Given the description of an element on the screen output the (x, y) to click on. 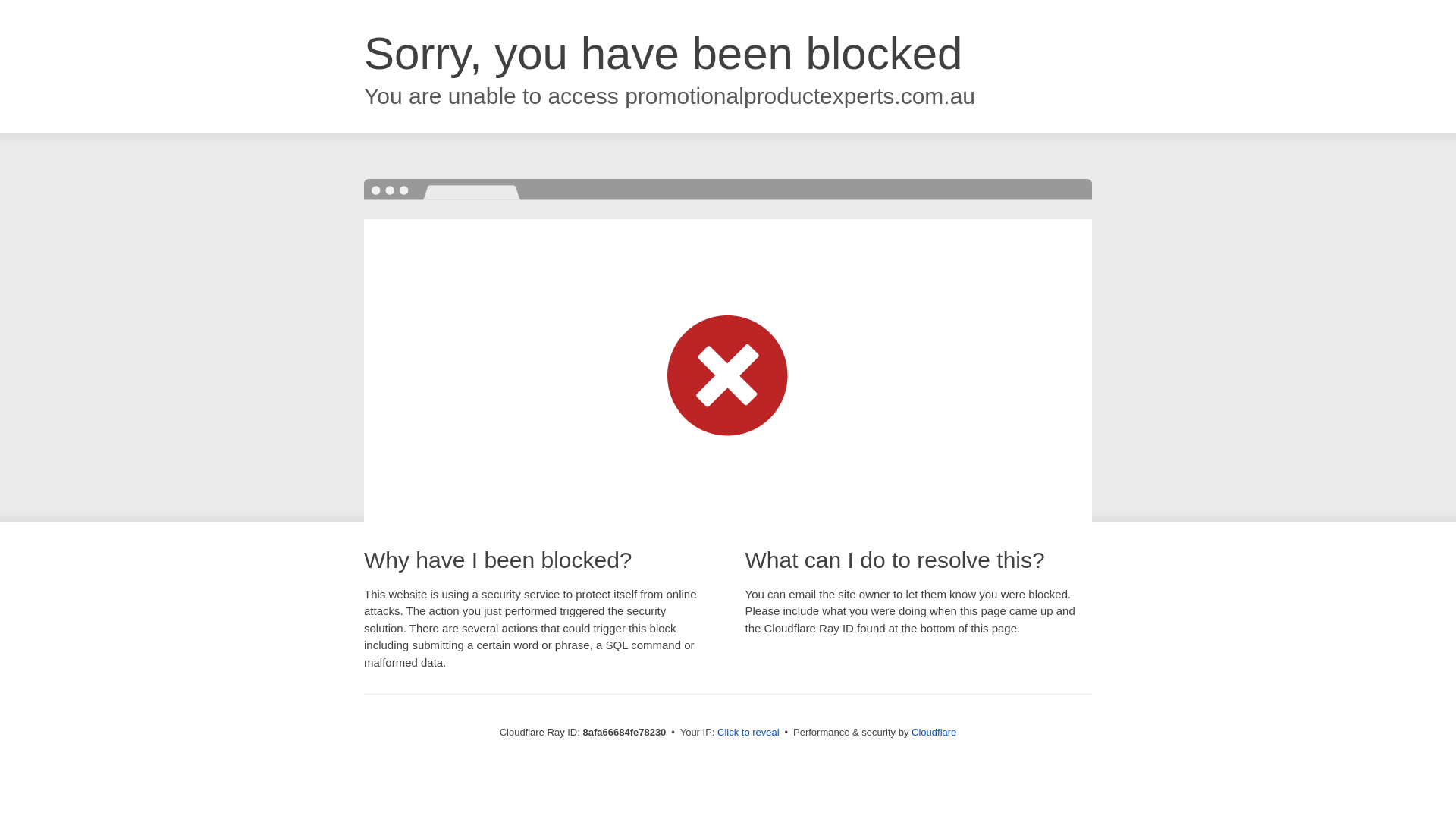
Cloudflare (933, 731)
Click to reveal (747, 732)
